Given the description of an element on the screen output the (x, y) to click on. 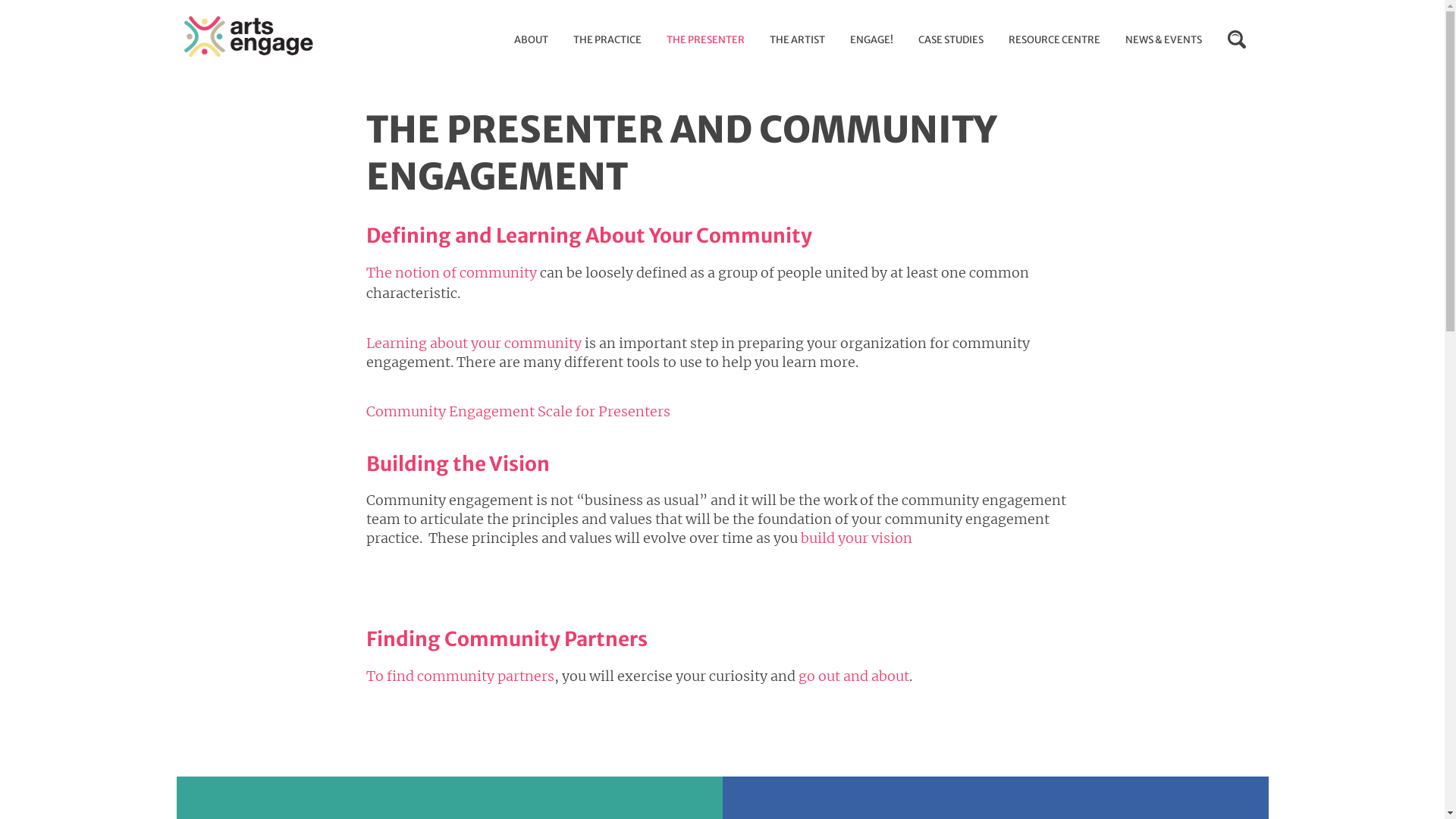
The notion of community Element type: text (450, 272)
THE ARTIST Element type: text (796, 39)
CASE STUDIES Element type: text (949, 39)
NEWS & EVENTS Element type: text (1163, 39)
Community Engagement Scale for Presenters Element type: text (517, 411)
To find community partners Element type: text (459, 675)
ENGAGE! Element type: text (870, 39)
SEARCH Element type: text (1235, 39)
ABOUT Element type: text (531, 39)
Home Element type: hover (247, 37)
Skip to main content Element type: text (244, 75)
THE PRACTICE Element type: text (607, 39)
Learning about your community Element type: text (472, 342)
RESOURCE CENTRE Element type: text (1054, 39)
build your vision Element type: text (856, 537)
go out and about Element type: text (852, 675)
THE PRESENTER Element type: text (704, 39)
